Given the description of an element on the screen output the (x, y) to click on. 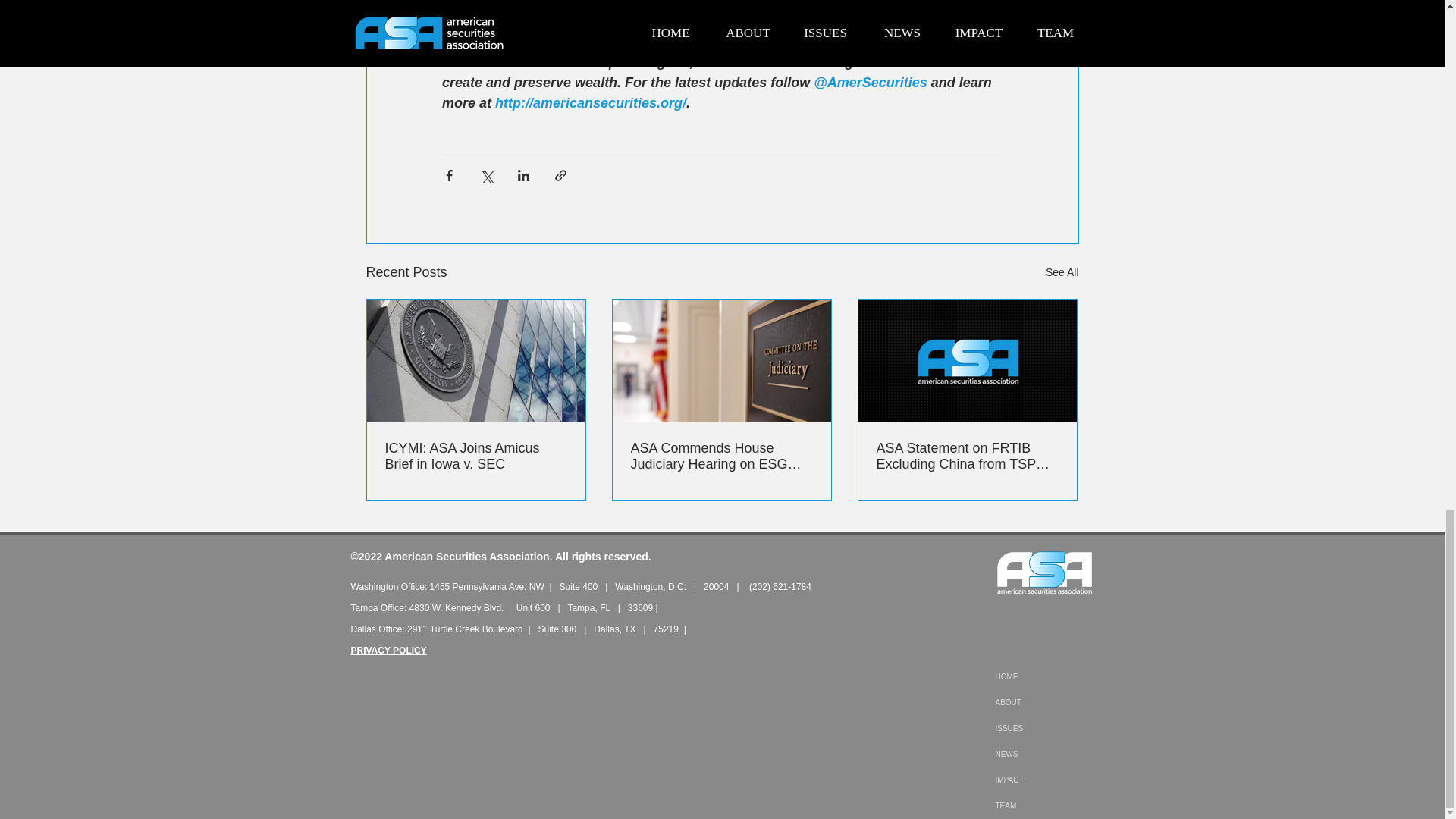
ASA Commends House Judiciary Hearing on ESG Collusion (721, 456)
NEWS (1043, 754)
PRIVACY POLICY (388, 650)
ISSUES (1043, 728)
IMPACT (1043, 780)
See All (1061, 272)
ABOUT (1043, 702)
ICYMI: ASA Joins Amicus Brief in Iowa v. SEC (476, 456)
HOME (1043, 677)
